Given the description of an element on the screen output the (x, y) to click on. 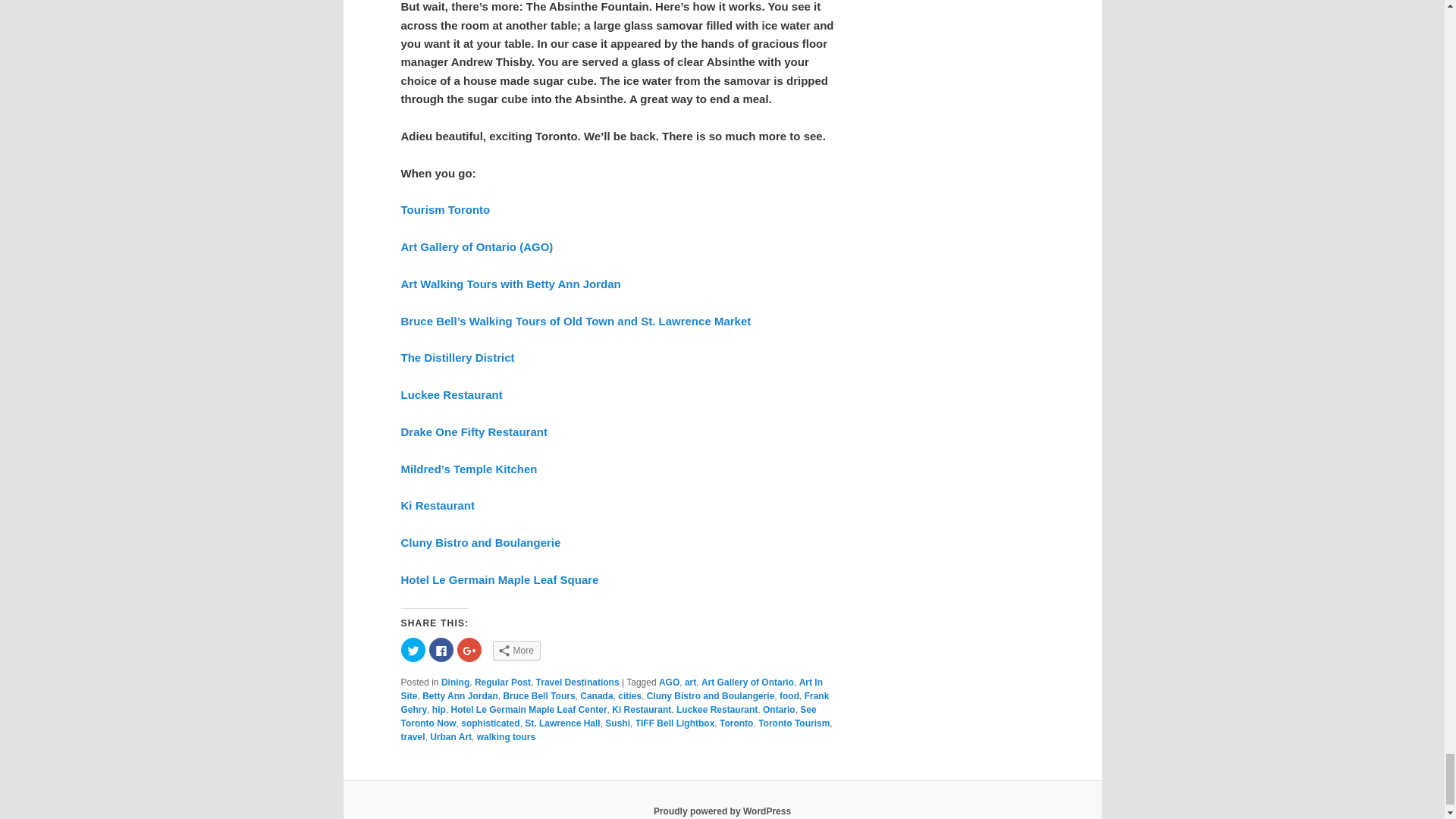
Click to share on Twitter (412, 649)
Drake One Fifty Restaurant (473, 431)
More (516, 650)
Ki Restaurant (437, 504)
Luckee Restaurant (451, 394)
Cluny Bistro and Boulangerie (480, 542)
Tourism Toronto (444, 209)
Semantic Personal Publishing Platform (721, 810)
Art Walking Tours with Betty Ann Jordan (510, 283)
Hotel Le Germain Maple Leaf Square (499, 579)
